Given the description of an element on the screen output the (x, y) to click on. 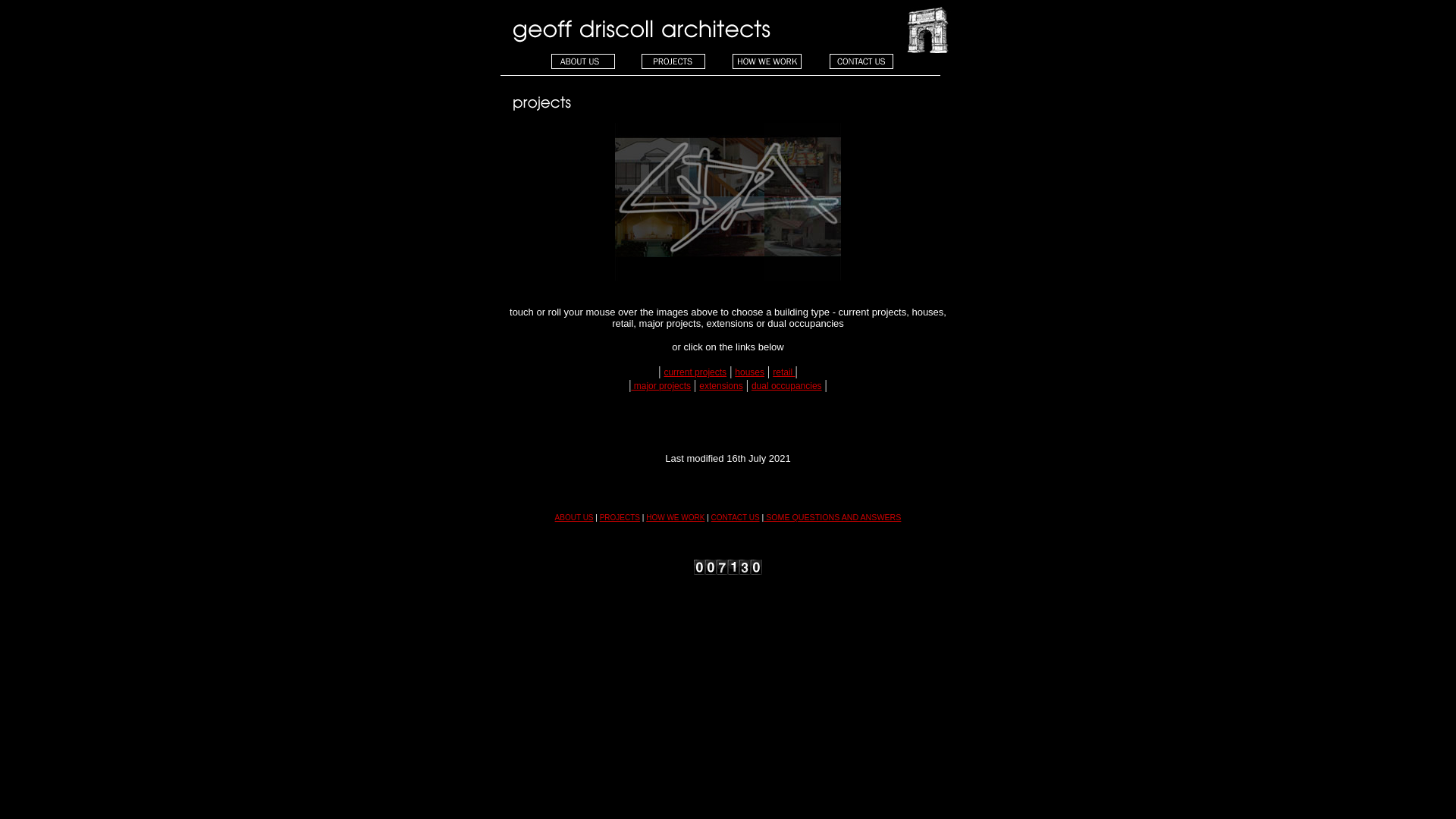
retail Element type: text (783, 372)
HOW WE WORK Element type: text (675, 517)
extensions Element type: text (720, 385)
current projects Element type: text (694, 372)
PROJECTS Element type: text (619, 517)
SOME QUESTIONS AND ANSWERS Element type: text (831, 516)
ABOUT US Element type: text (574, 517)
houses Element type: text (749, 372)
major projects Element type: text (660, 385)
dual occupancies Element type: text (786, 385)
CONTACT US Element type: text (735, 517)
